Given the description of an element on the screen output the (x, y) to click on. 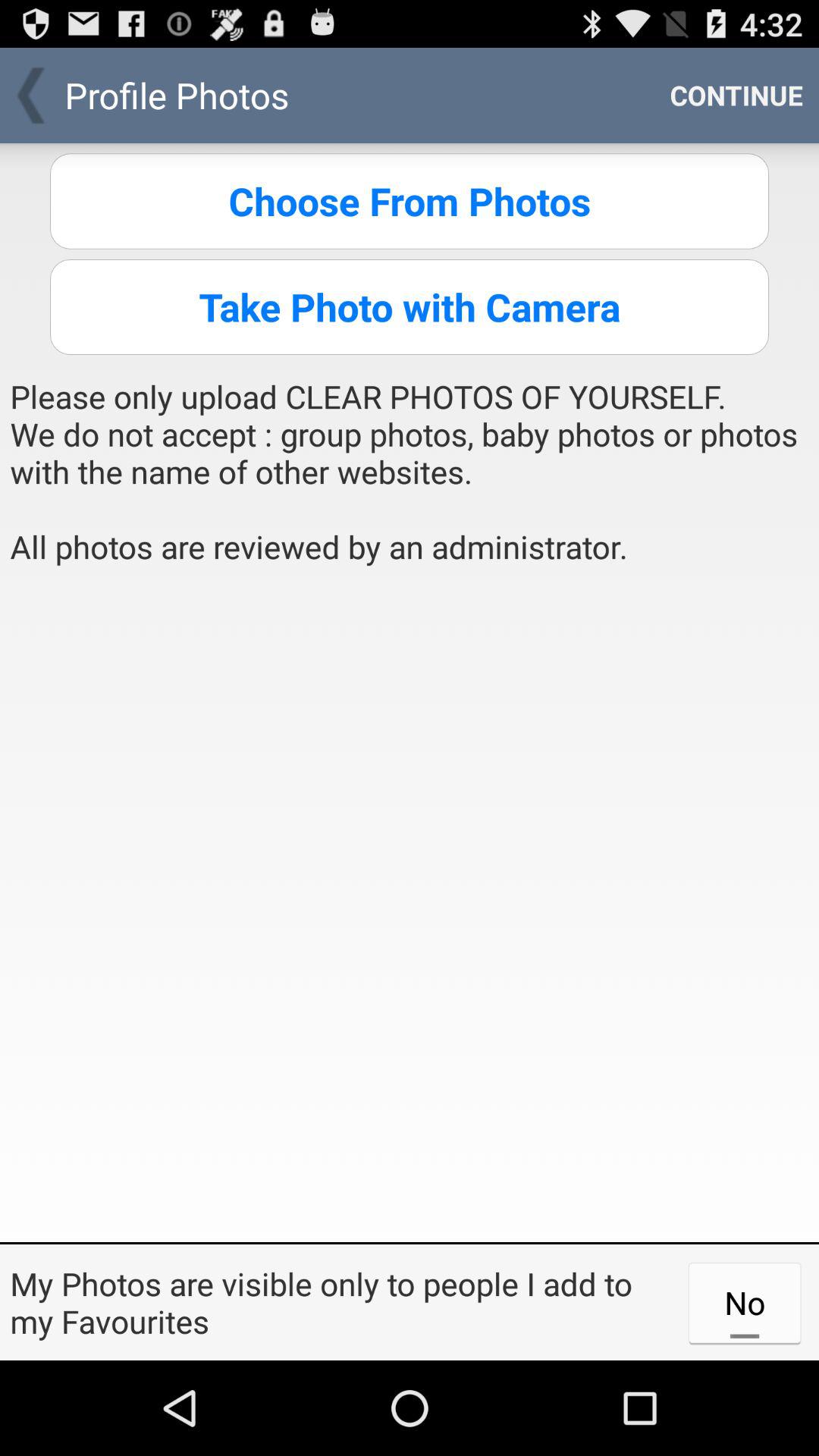
press the icon at the top right corner (736, 95)
